Given the description of an element on the screen output the (x, y) to click on. 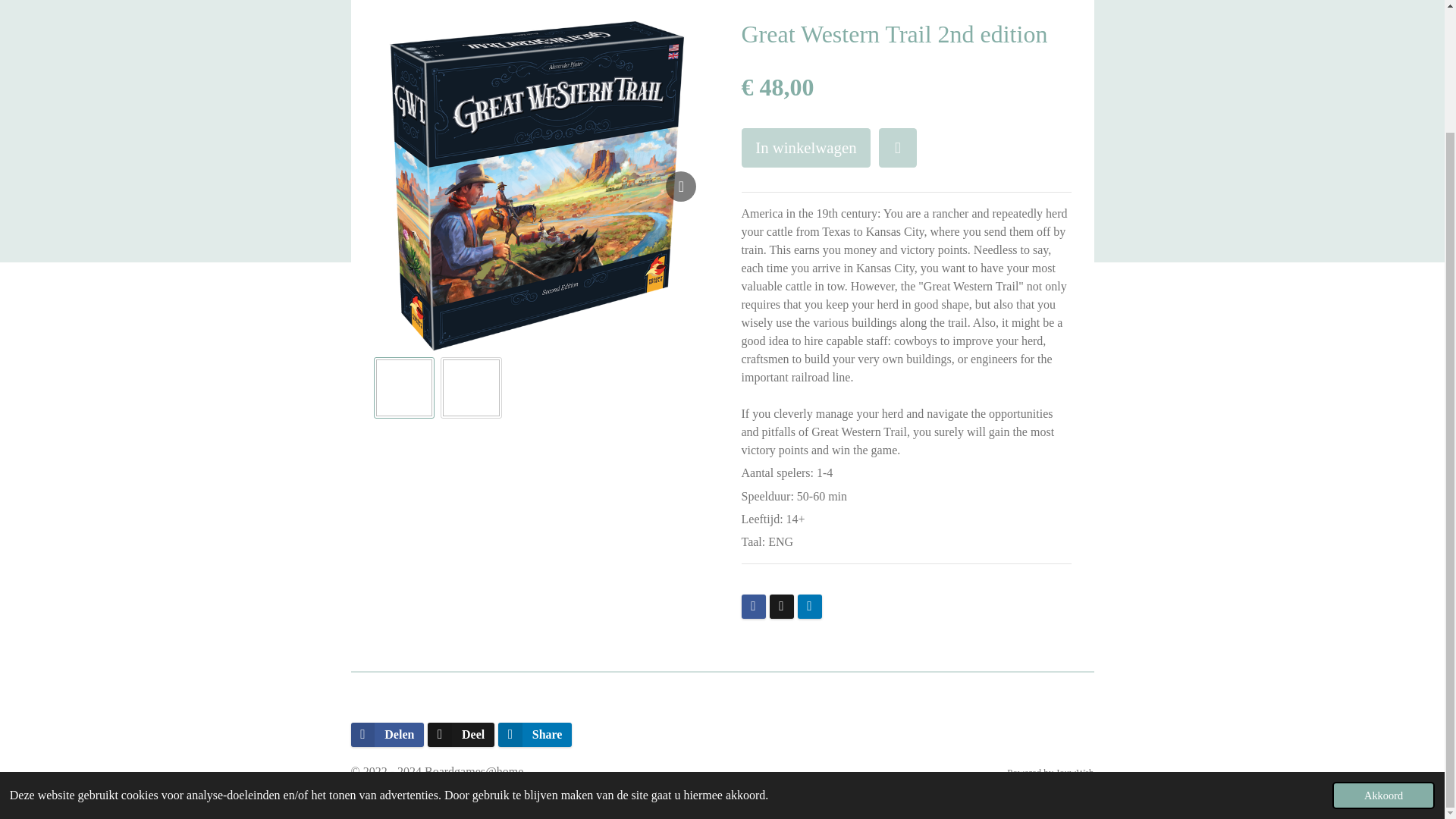
In winkelwagen (805, 147)
Toevoegen aan verlanglijst (898, 147)
Toevoegen aan verlanglijst (897, 147)
In winkelwagen (805, 147)
